Given the description of an element on the screen output the (x, y) to click on. 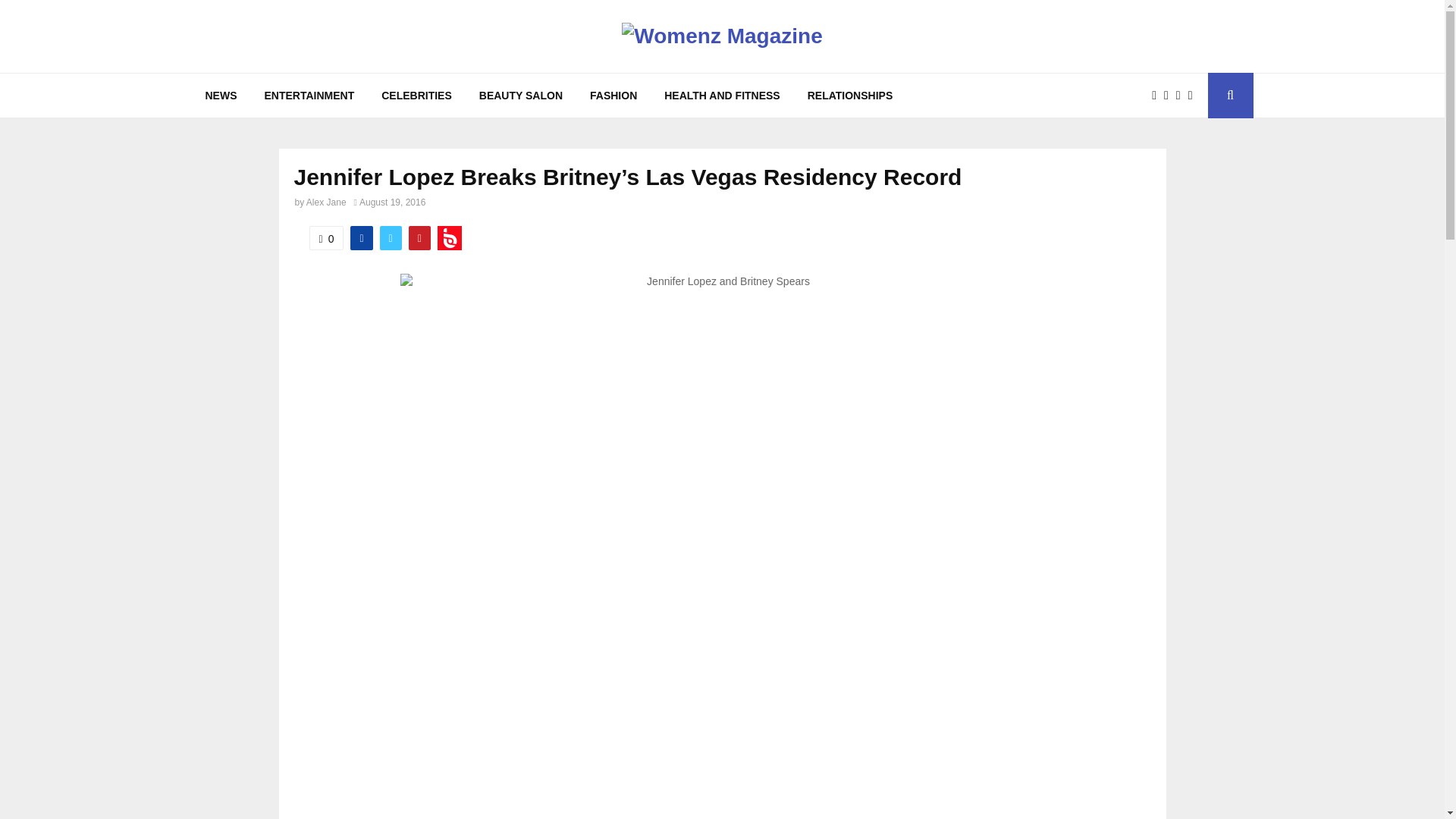
RELATIONSHIPS (850, 94)
Like (325, 238)
NEWS (220, 94)
0 (325, 238)
ENTERTAINMENT (309, 94)
BEAUTY SALON (520, 94)
Alex Jane (325, 202)
CELEBRITIES (416, 94)
HEALTH AND FITNESS (721, 94)
FASHION (613, 94)
